Given the description of an element on the screen output the (x, y) to click on. 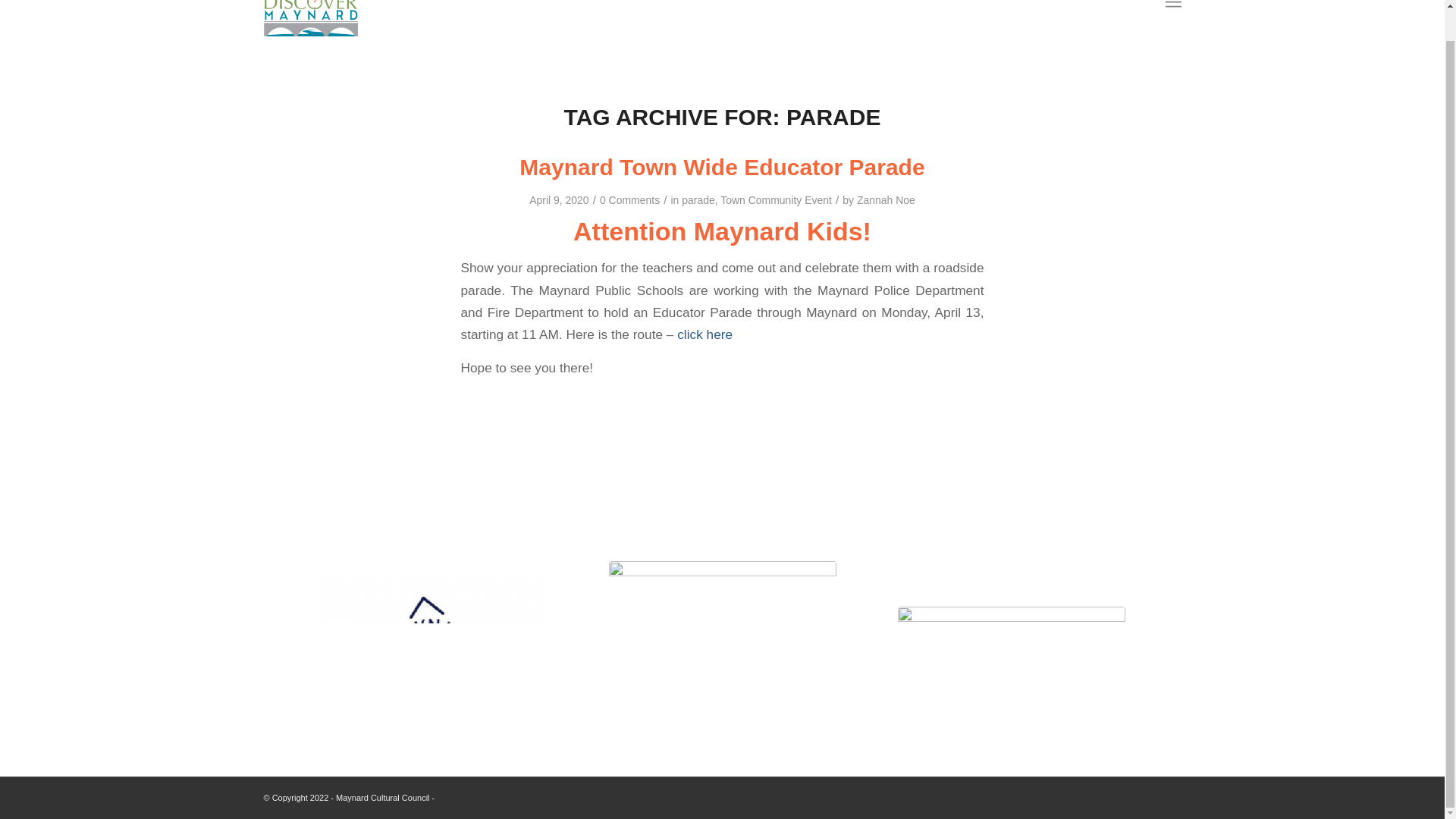
Zannah Noe (886, 200)
0 Comments (629, 200)
Permanent Link: Maynard Town Wide Educator Parade (721, 166)
dm-logo-2022-enfold-1 (310, 18)
Town Community Event (775, 200)
town-seal (721, 657)
mcc-logo (1011, 658)
click here (704, 334)
mcd-logo (433, 657)
Maynard Town Wide Educator Parade (721, 166)
Posts by Zannah Noe (886, 200)
parade (697, 200)
